Given the description of an element on the screen output the (x, y) to click on. 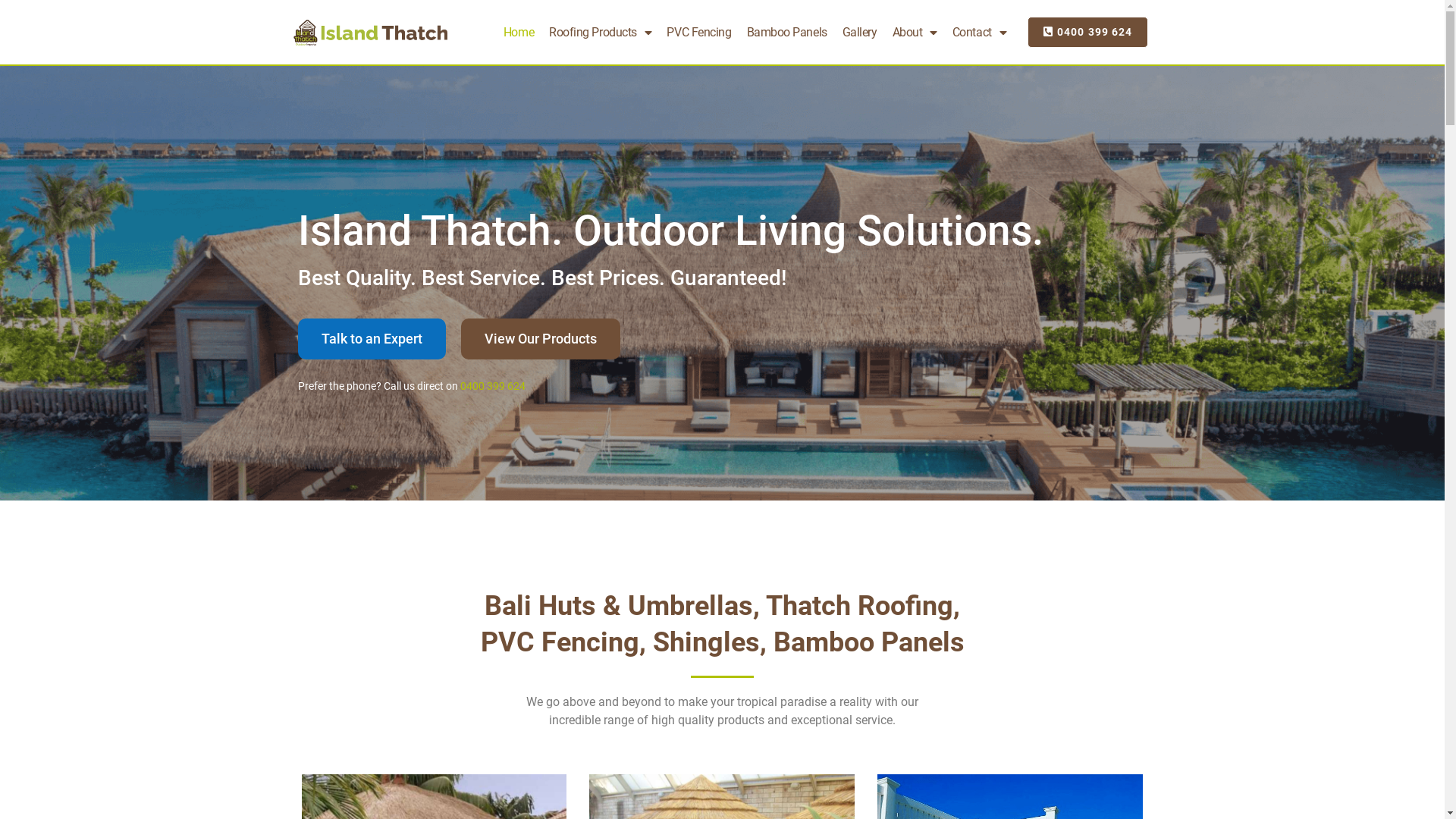
Bamboo Panels Element type: text (786, 31)
About Element type: text (914, 31)
Roofing Products Element type: text (599, 31)
Home Element type: text (518, 31)
View Our Products Element type: text (540, 338)
Talk to an Expert Element type: text (371, 338)
0400 399 624 Element type: text (491, 385)
Gallery Element type: text (859, 31)
PVC Fencing Element type: text (698, 31)
Contact Element type: text (978, 31)
0400 399 624 Element type: text (1087, 31)
